Given the description of an element on the screen output the (x, y) to click on. 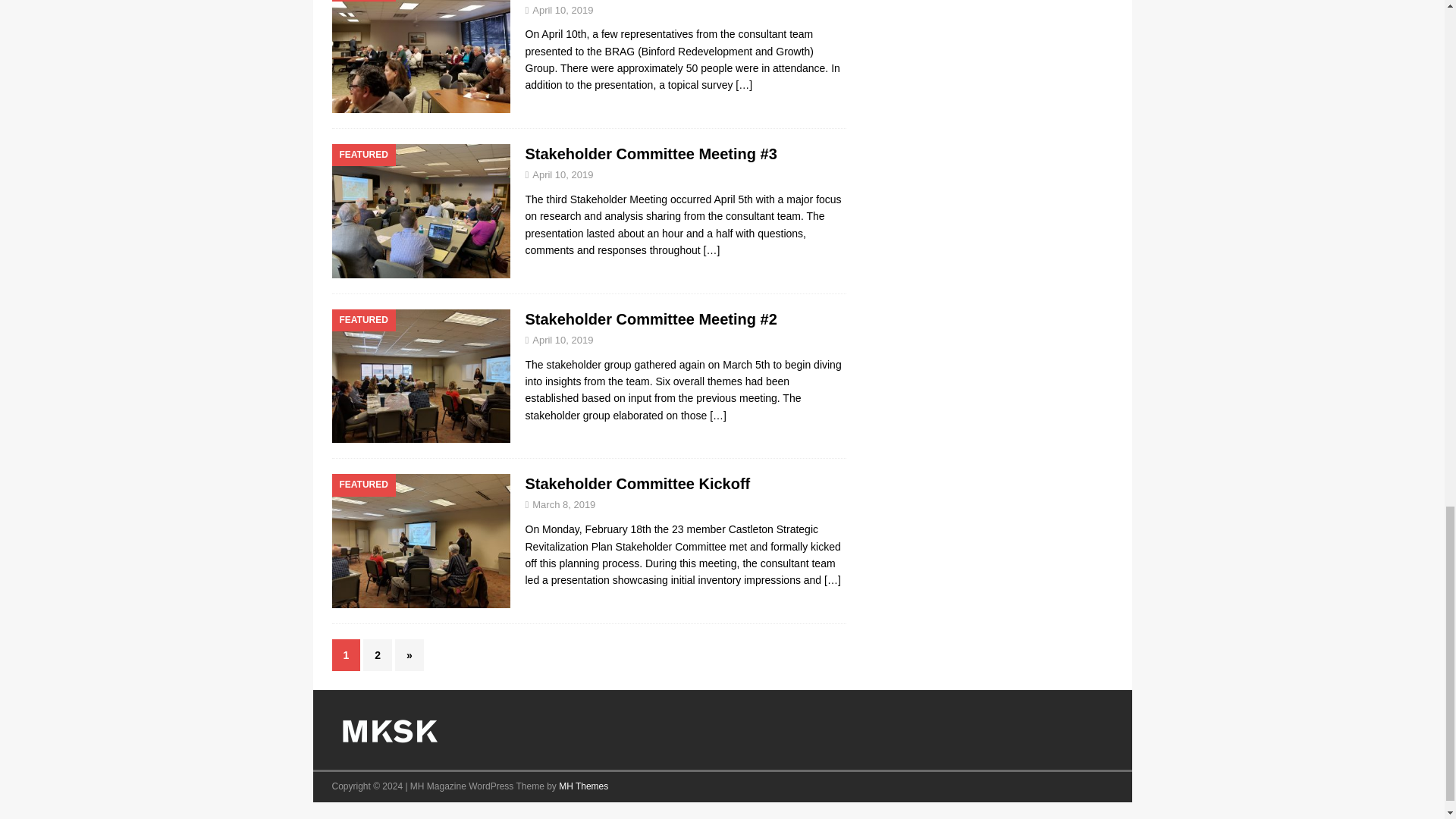
Stakeholder Committee Kickoff (636, 483)
Focus Group Presentation (743, 84)
Stakeholder Committee Kickoff (832, 580)
